Given the description of an element on the screen output the (x, y) to click on. 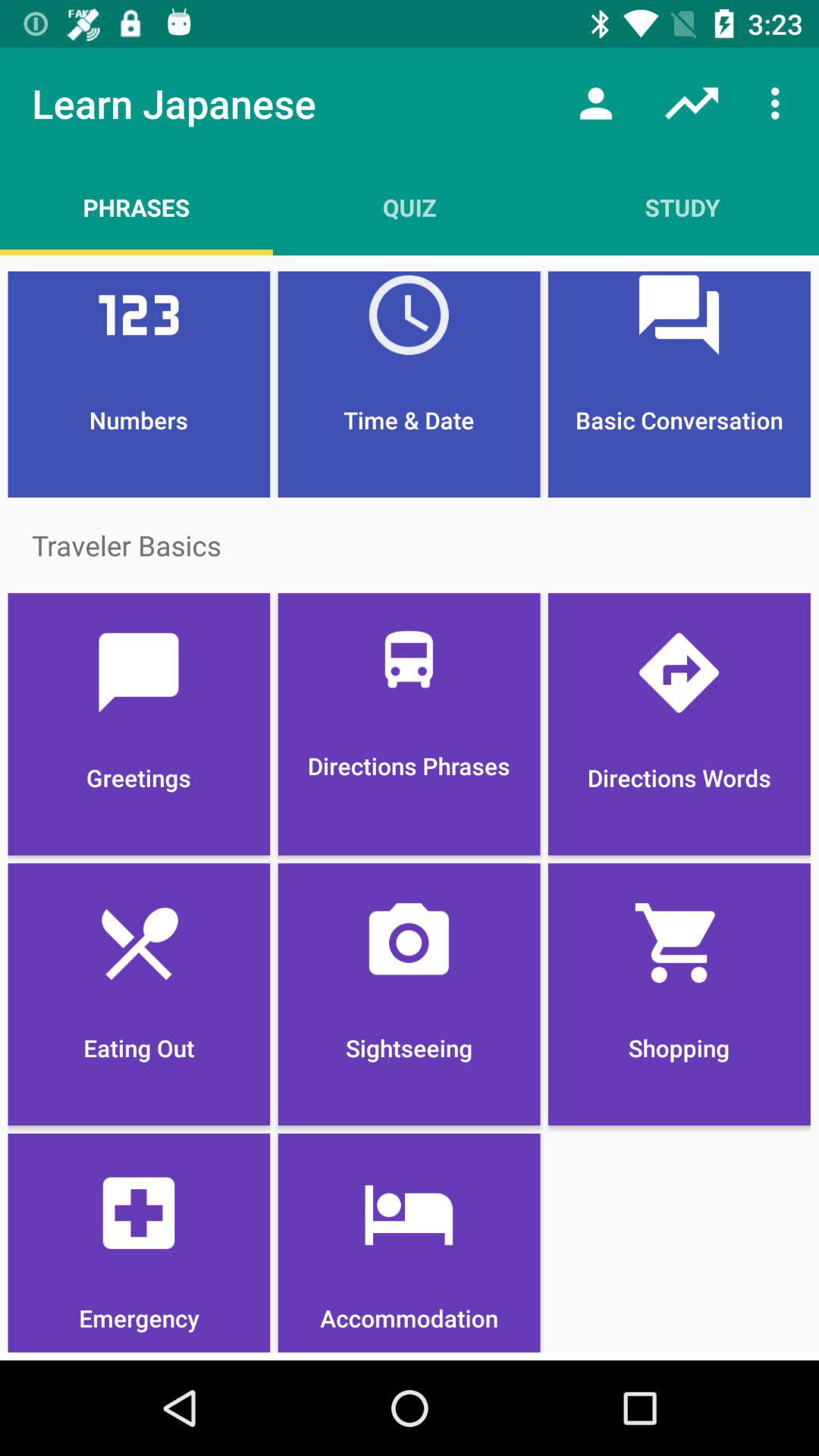
click item next to study app (409, 207)
